Given the description of an element on the screen output the (x, y) to click on. 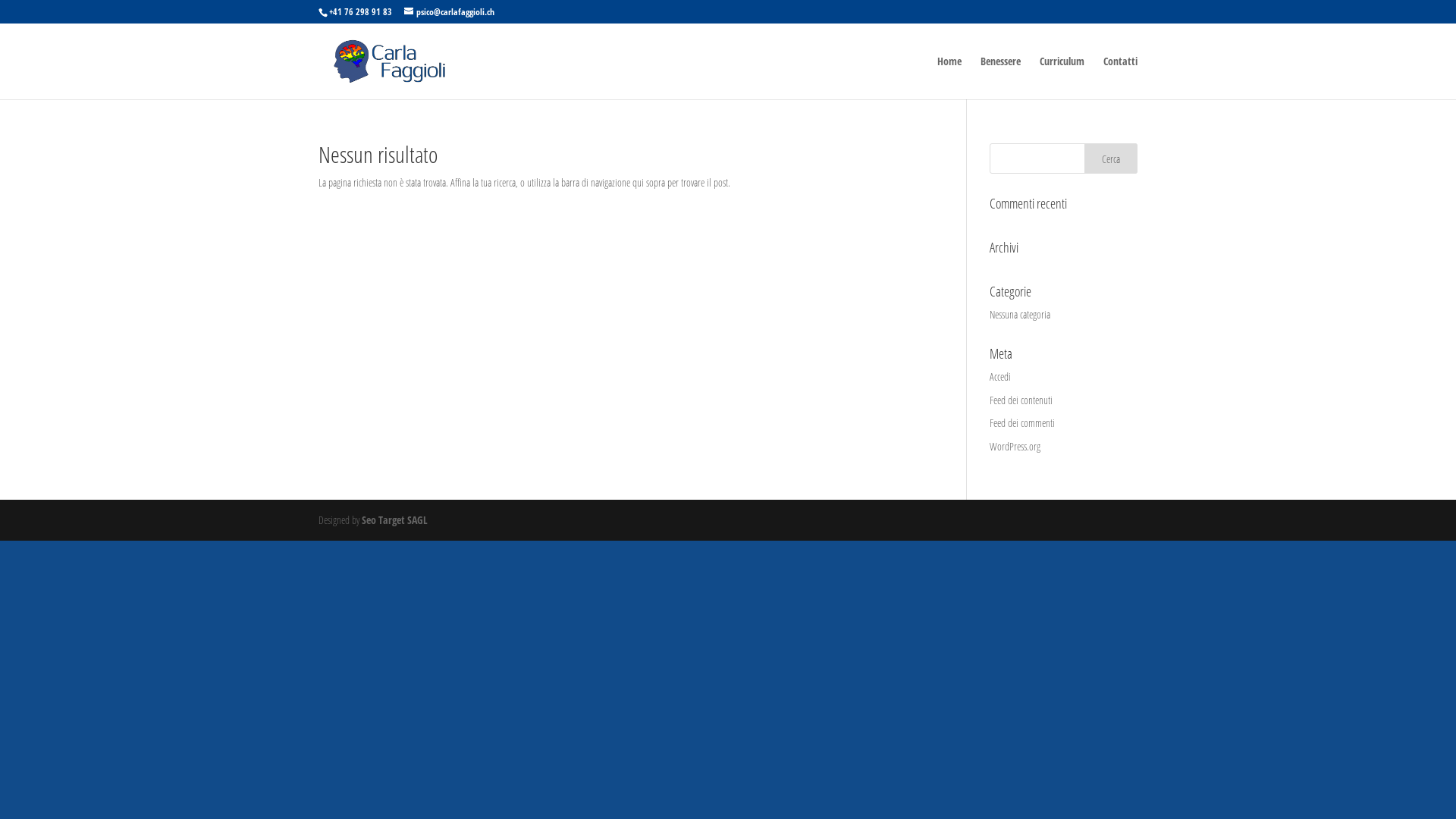
Accedi Element type: text (999, 376)
Seo Target SAGL Element type: text (394, 519)
Benessere Element type: text (1000, 77)
Feed dei contenuti Element type: text (1020, 399)
WordPress.org Element type: text (1014, 446)
Contatti Element type: text (1120, 77)
Home Element type: text (949, 77)
Curriculum Element type: text (1061, 77)
psico@carlafaggioli.ch Element type: text (449, 11)
Cerca Element type: text (1110, 158)
Feed dei commenti Element type: text (1021, 422)
